Given the description of an element on the screen output the (x, y) to click on. 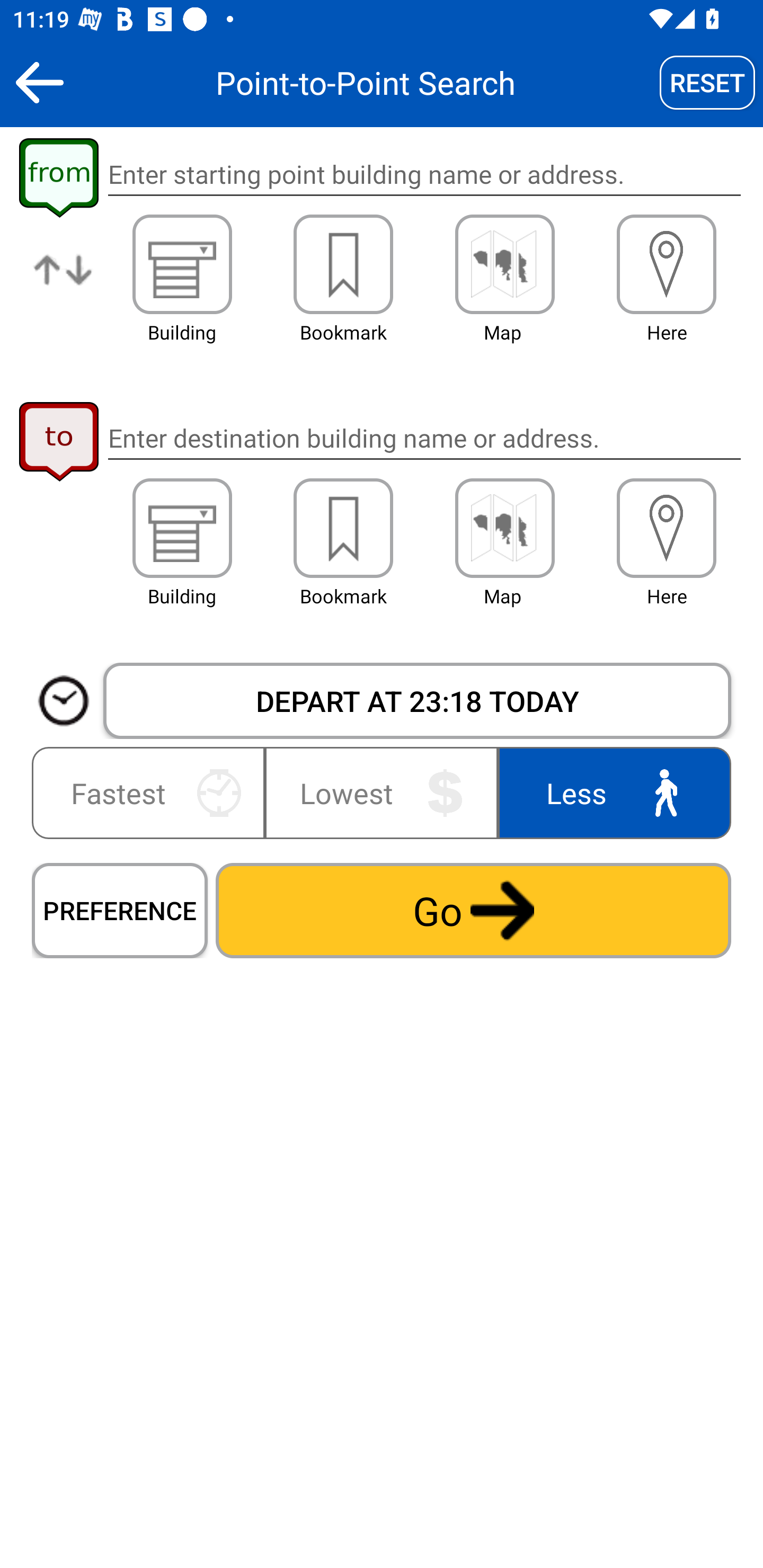
Back (39, 82)
RESET Reset (707, 81)
Enter starting point building name or address. (423, 174)
Building (181, 263)
Bookmarks (342, 263)
Select location on map (504, 263)
Here (666, 263)
Swap origin and destination (63, 284)
Enter destination building name or address. (423, 437)
Building (181, 528)
Bookmarks (342, 528)
Select location on map (504, 528)
Here (666, 528)
Lowest (381, 792)
Fastest (151, 792)
Less selected (610, 792)
PREFERENCE Preference (119, 910)
Go (472, 910)
